Given the description of an element on the screen output the (x, y) to click on. 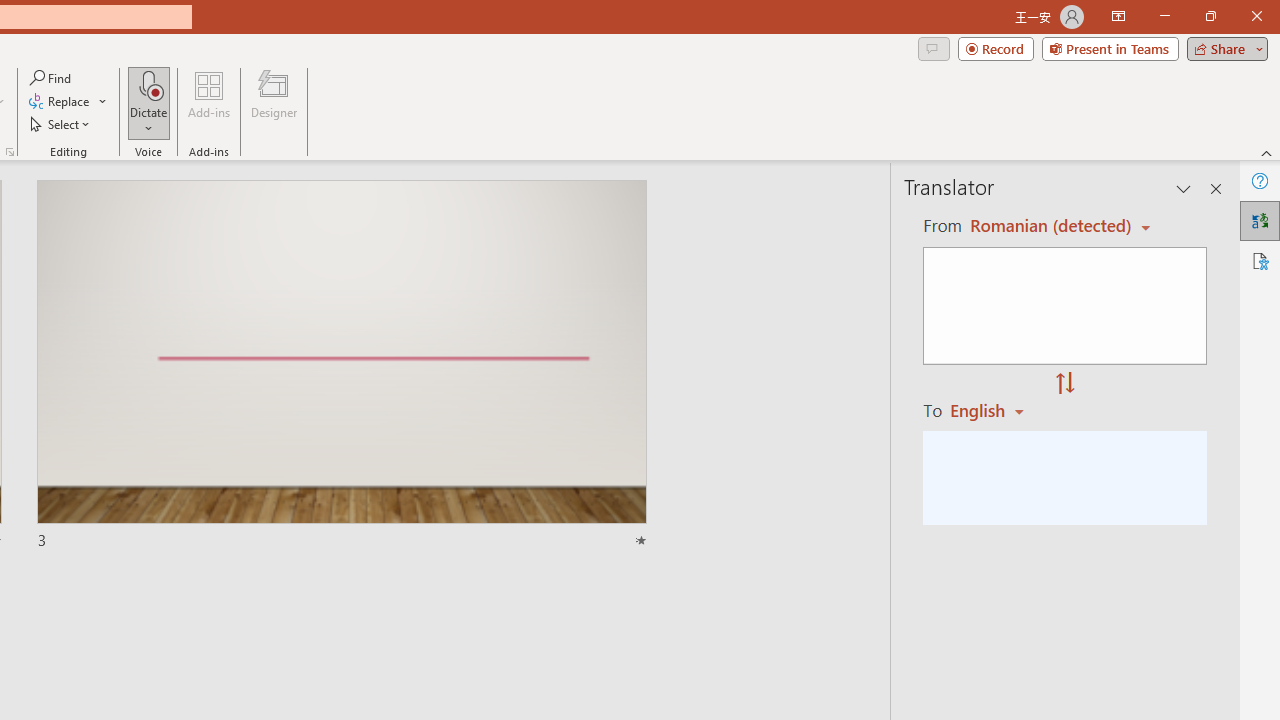
Czech (detected) (1047, 225)
